Given the description of an element on the screen output the (x, y) to click on. 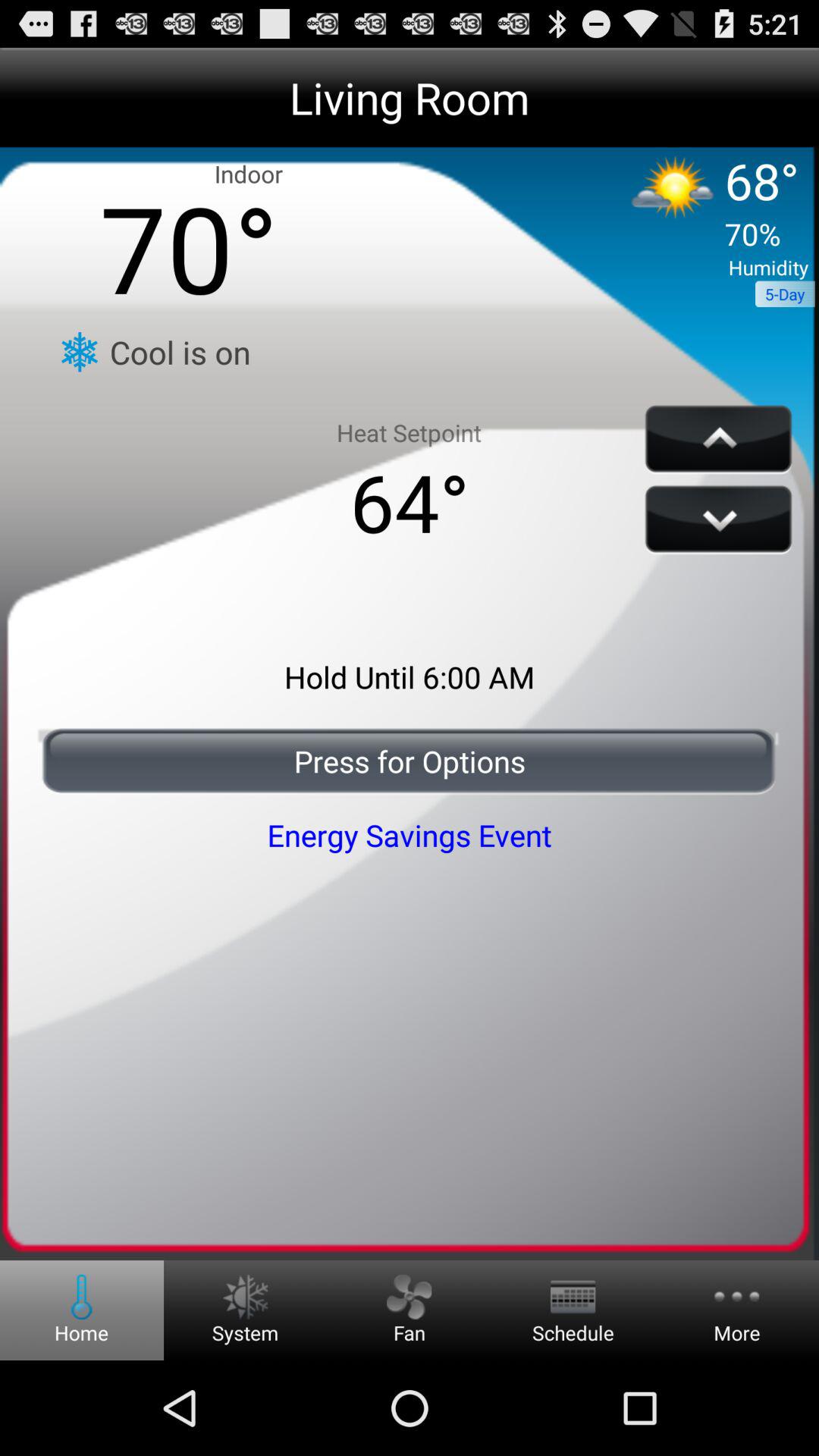
jump until press for options button (409, 761)
